Given the description of an element on the screen output the (x, y) to click on. 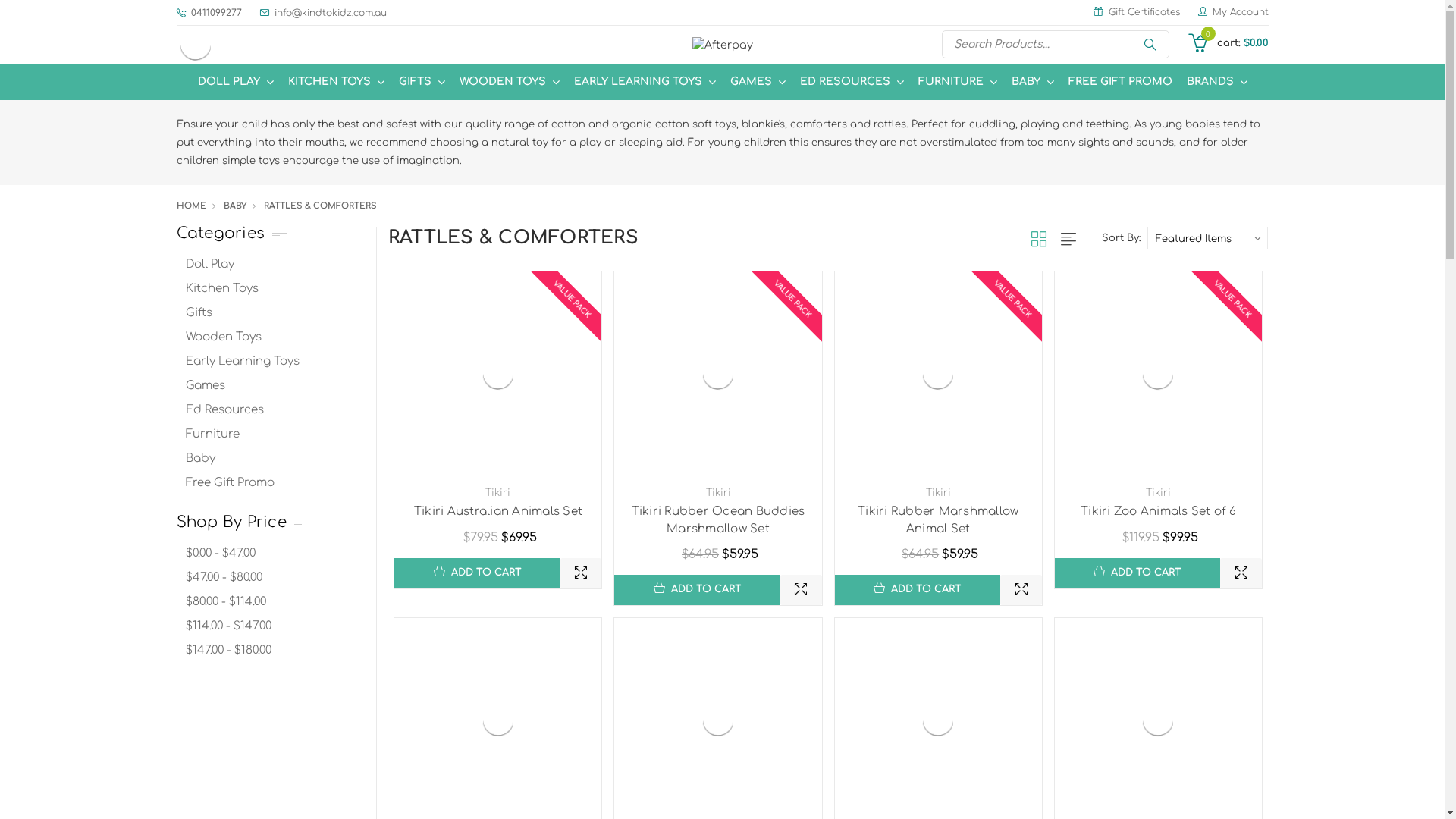
info@kindtokidz.com.au Element type: text (318, 12)
FREE GIFT PROMO Element type: text (1119, 81)
Tikiri Rubber Ocean Buddies Marshmallow Set Element type: text (718, 520)
Ed Resources Element type: text (274, 410)
$0.00 - $47.00 Element type: text (274, 553)
Baby Element type: text (274, 458)
Free Gift Promo Element type: text (274, 482)
$147.00 - $180.00 Element type: text (274, 650)
Early Learning Toys Element type: text (274, 361)
EARLY LEARNING TOYS Element type: text (644, 81)
$80.00 - $114.00 Element type: text (274, 602)
Tikiri Rubber Marshmallow Animal Set Element type: hover (938, 373)
Gifts Element type: text (274, 313)
Tikiri Zoo Animals Set of 6 Element type: text (1158, 511)
Tikiri Australian Animals Set Element type: text (498, 511)
Tikiri Rubber Marshmallow Animal Set Element type: text (937, 520)
Orgiri Teether Set of 2 Element type: hover (498, 720)
FURNITURE Element type: text (956, 81)
Tikiri Zoo Animals Set of 6  Element type: hover (1157, 373)
BRANDS Element type: text (1216, 81)
Tikiri Rubber Ocean Buddies Marshmallow Set Element type: hover (718, 373)
BABY Element type: text (233, 205)
GAMES Element type: text (756, 81)
My Account Element type: text (1229, 12)
Qtoys wooden ring rattle Element type: hover (718, 720)
DOLL PLAY Element type: text (235, 81)
ADD TO CART Element type: text (1137, 573)
$114.00 - $147.00 Element type: text (274, 626)
Hape Baby to Toddler Sensory Gift Element type: hover (1157, 720)
Kitchen Toys Element type: text (274, 288)
0411099277 Element type: text (208, 12)
ADD TO CART Element type: text (917, 589)
$47.00 - $80.00 Element type: text (274, 577)
Tikiri Australian Animals Rubber Toys Set Element type: hover (498, 373)
Doll Play Element type: text (274, 264)
GIFTS Element type: text (421, 81)
KITCHEN TOYS Element type: text (336, 81)
Games Element type: text (274, 385)
ED RESOURCES Element type: text (851, 81)
Wooden Toys Element type: text (274, 337)
Hape Bunny Stacker Element type: hover (938, 720)
0
Cart: $0.00 Element type: text (1227, 43)
ADD TO CART Element type: text (477, 573)
Furniture Element type: text (274, 434)
KindtoKidz Toys & Gifts Element type: hover (194, 44)
ADD TO CART Element type: text (697, 589)
WOODEN TOYS Element type: text (509, 81)
Gift Certificates Element type: text (1136, 12)
RATTLES & COMFORTERS Element type: text (319, 205)
BABY Element type: text (1032, 81)
HOME Element type: text (190, 205)
